Given the description of an element on the screen output the (x, y) to click on. 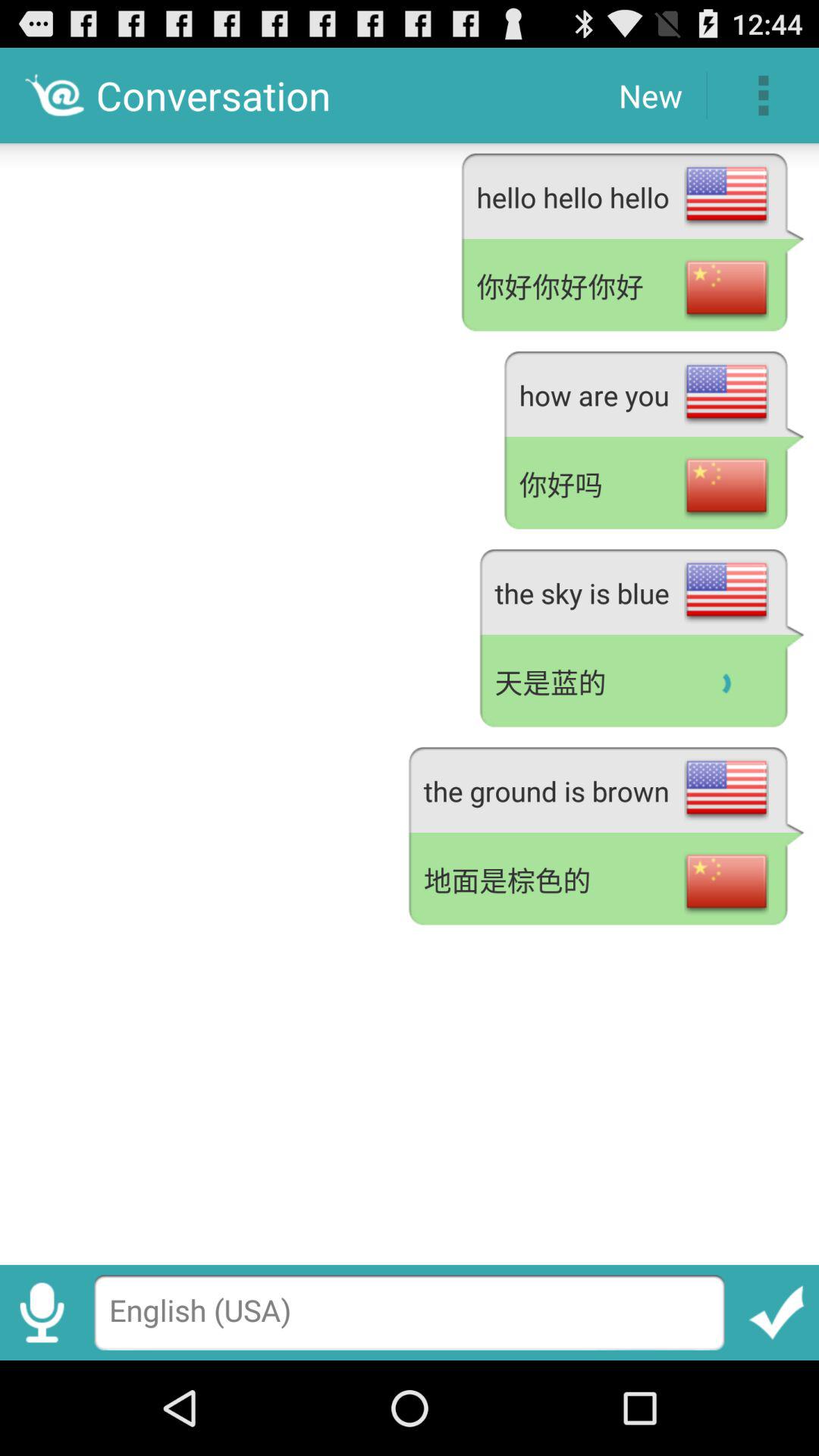
turn off how are you item (653, 391)
